Given the description of an element on the screen output the (x, y) to click on. 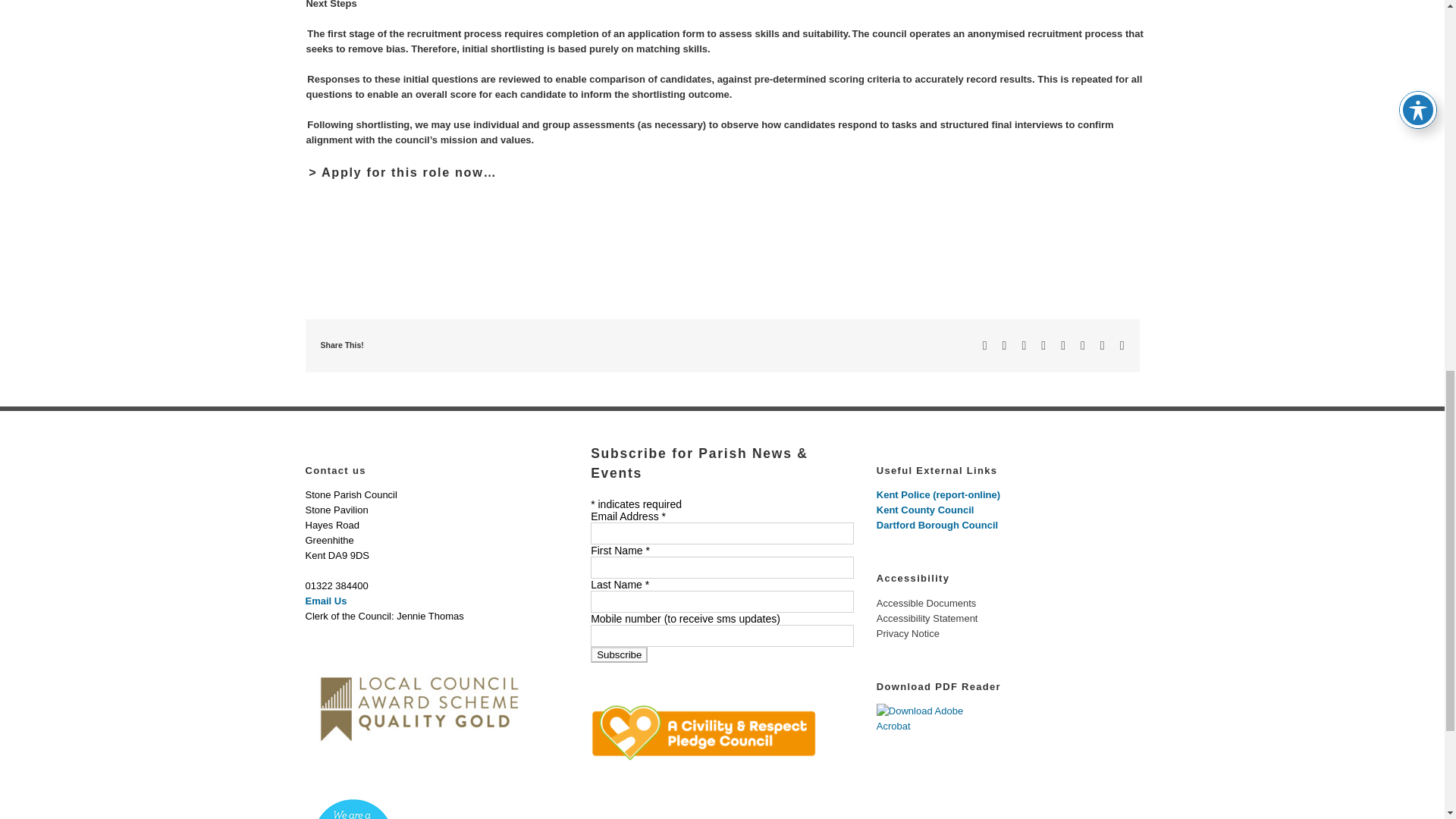
Subscribe (619, 654)
